Given the description of an element on the screen output the (x, y) to click on. 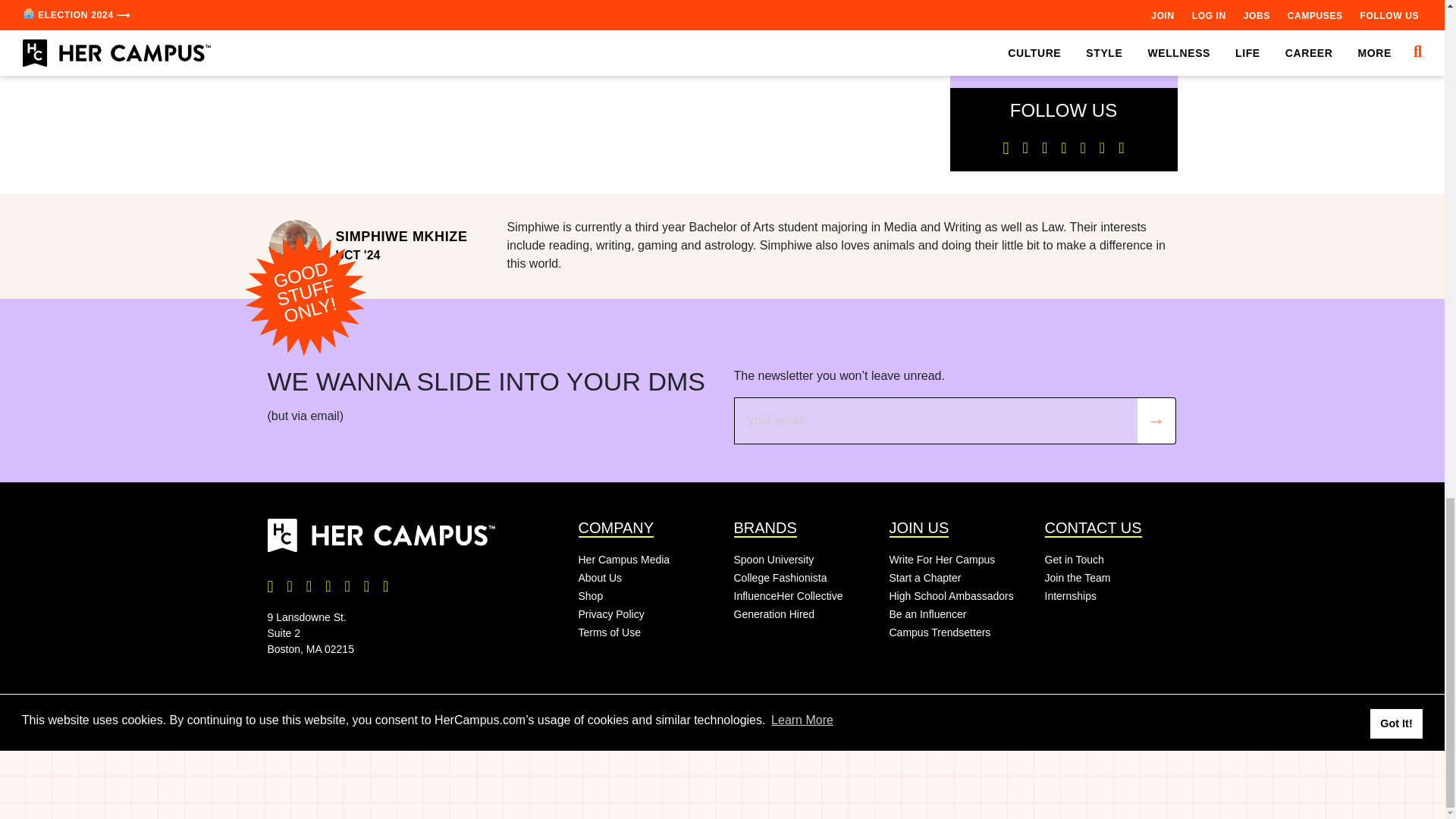
3rd party ad content (597, 56)
